Given the description of an element on the screen output the (x, y) to click on. 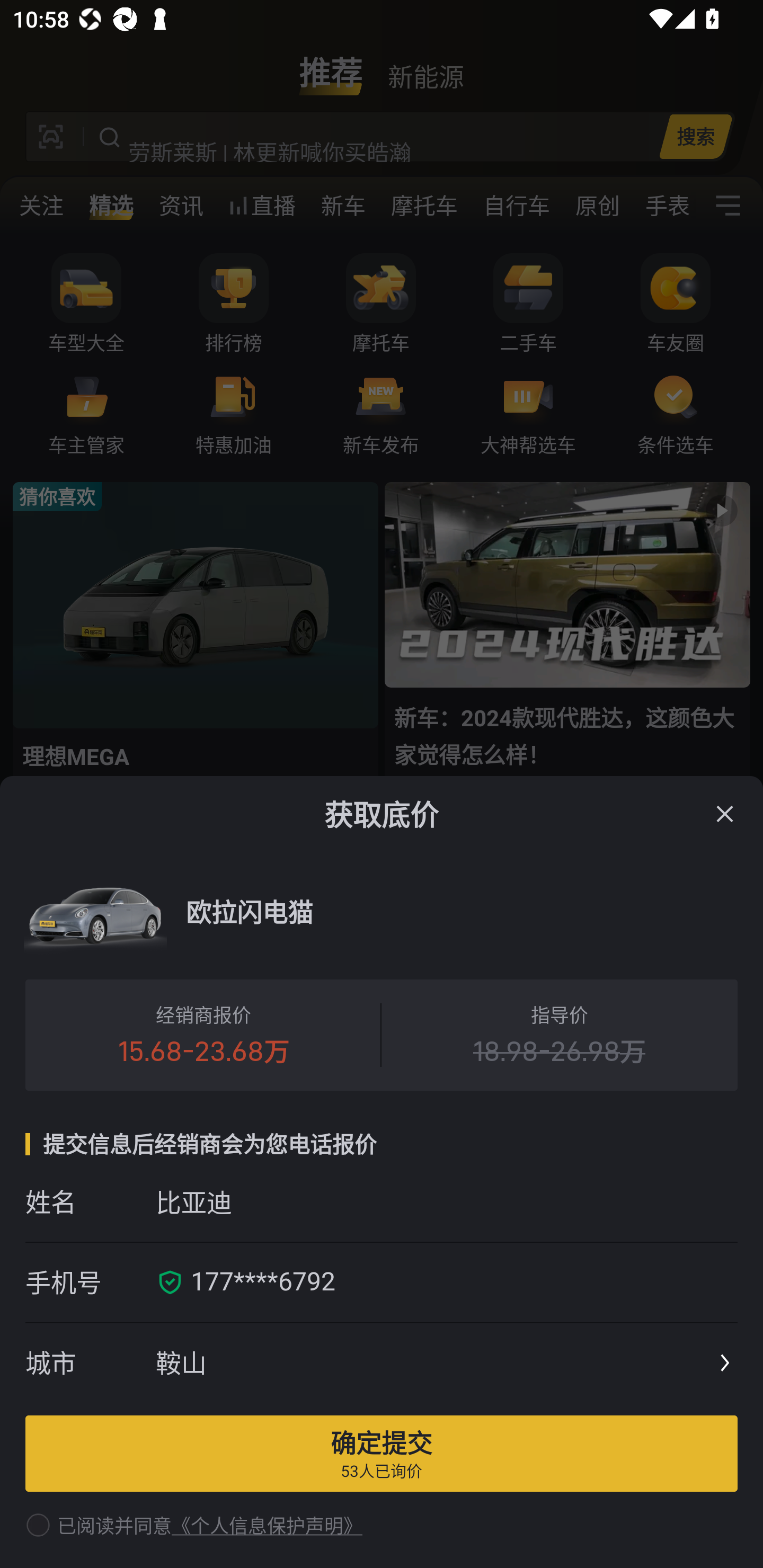
 (724, 813)
姓名 (90, 1201)
比亚迪 (446, 1201)
手机号 (90, 1282)
177****6792 (457, 1282)
城市 鞍山  (381, 1363)
确定提交 53人已询价 (381, 1453)
